Given the description of an element on the screen output the (x, y) to click on. 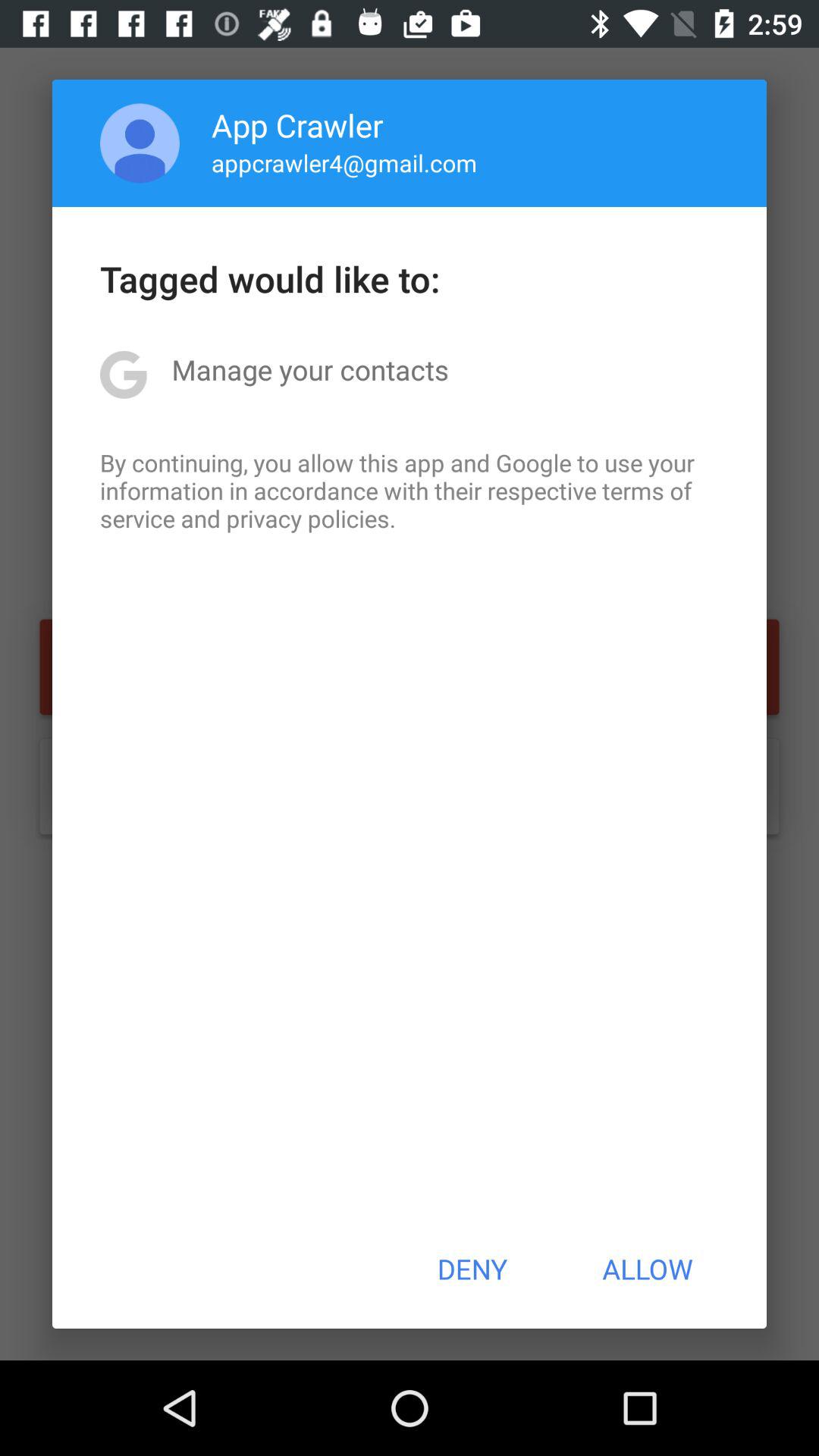
click the icon to the left of the allow item (471, 1268)
